Given the description of an element on the screen output the (x, y) to click on. 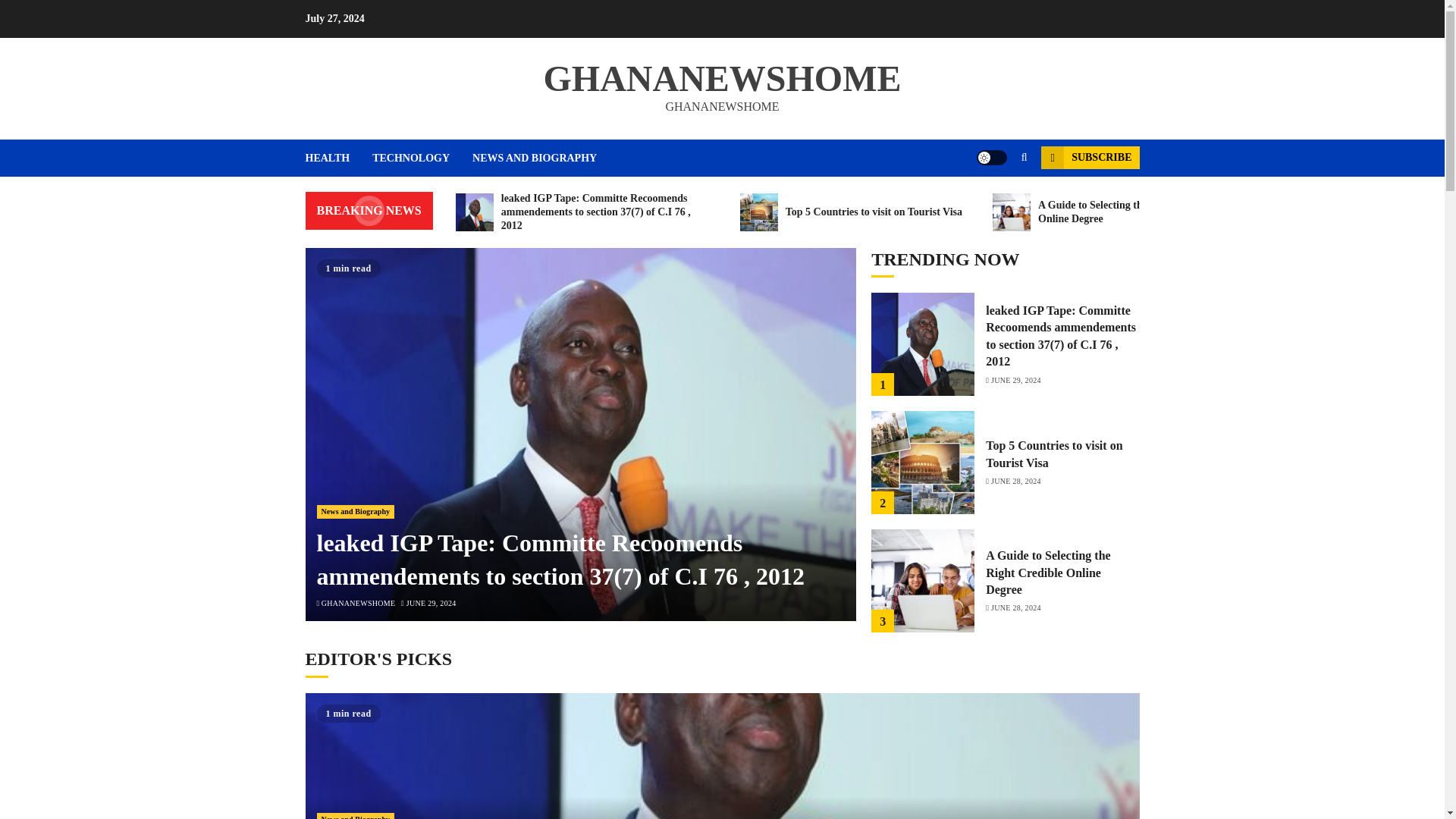
JUNE 29, 2024 (431, 603)
A Guide to Selecting the Right Credible Online Degree (1119, 211)
GHANANEWSHOME (358, 603)
SUBSCRIBE (1089, 157)
HEALTH (338, 157)
News and Biography (355, 511)
TECHNOLOGY (421, 157)
GHANANEWSHOME (722, 78)
Top 5 Countries to visit on Tourist Visa (850, 211)
Search (994, 203)
NEWS AND BIOGRAPHY (533, 157)
